Given the description of an element on the screen output the (x, y) to click on. 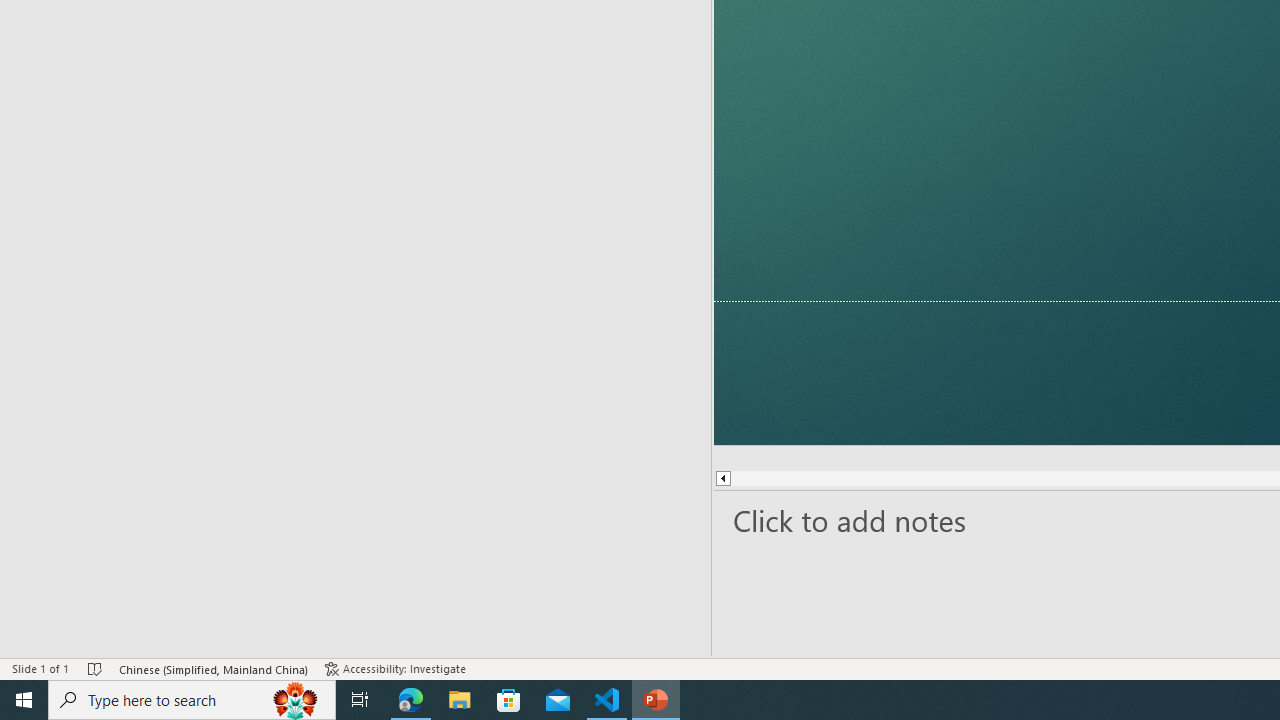
Page Number Screen 1 of 1  (62, 640)
AutomationID: BadgeAnchorLargeTicker (46, 686)
AutomationID: DynamicSearchBoxGleamImage (1138, 687)
